Given the description of an element on the screen output the (x, y) to click on. 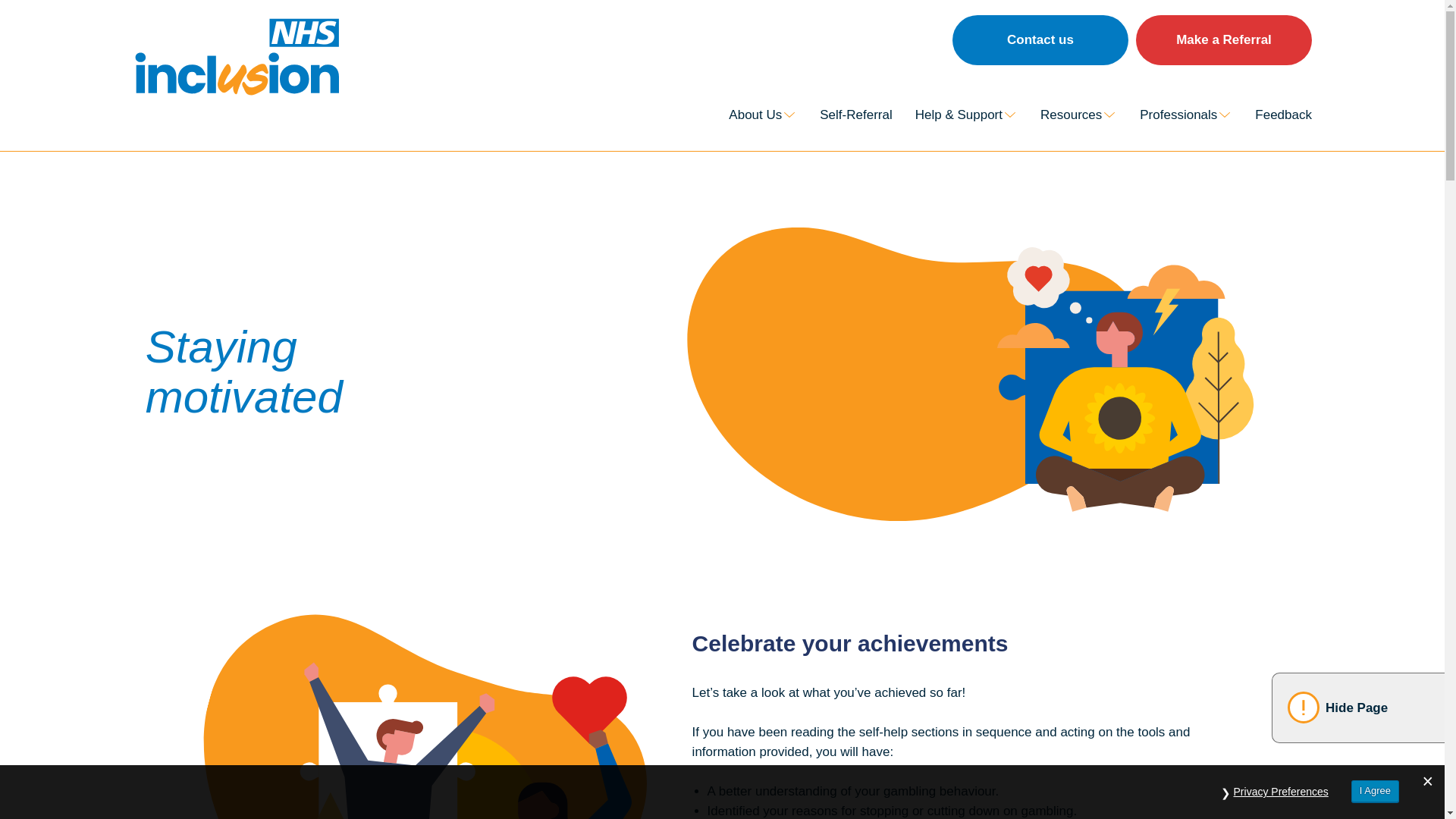
Self-Referral (855, 114)
Contact us (1040, 40)
Professionals (1185, 114)
About Us (762, 114)
Feedback (1283, 114)
Resources (1078, 114)
Make a Referral (1223, 40)
